Given the description of an element on the screen output the (x, y) to click on. 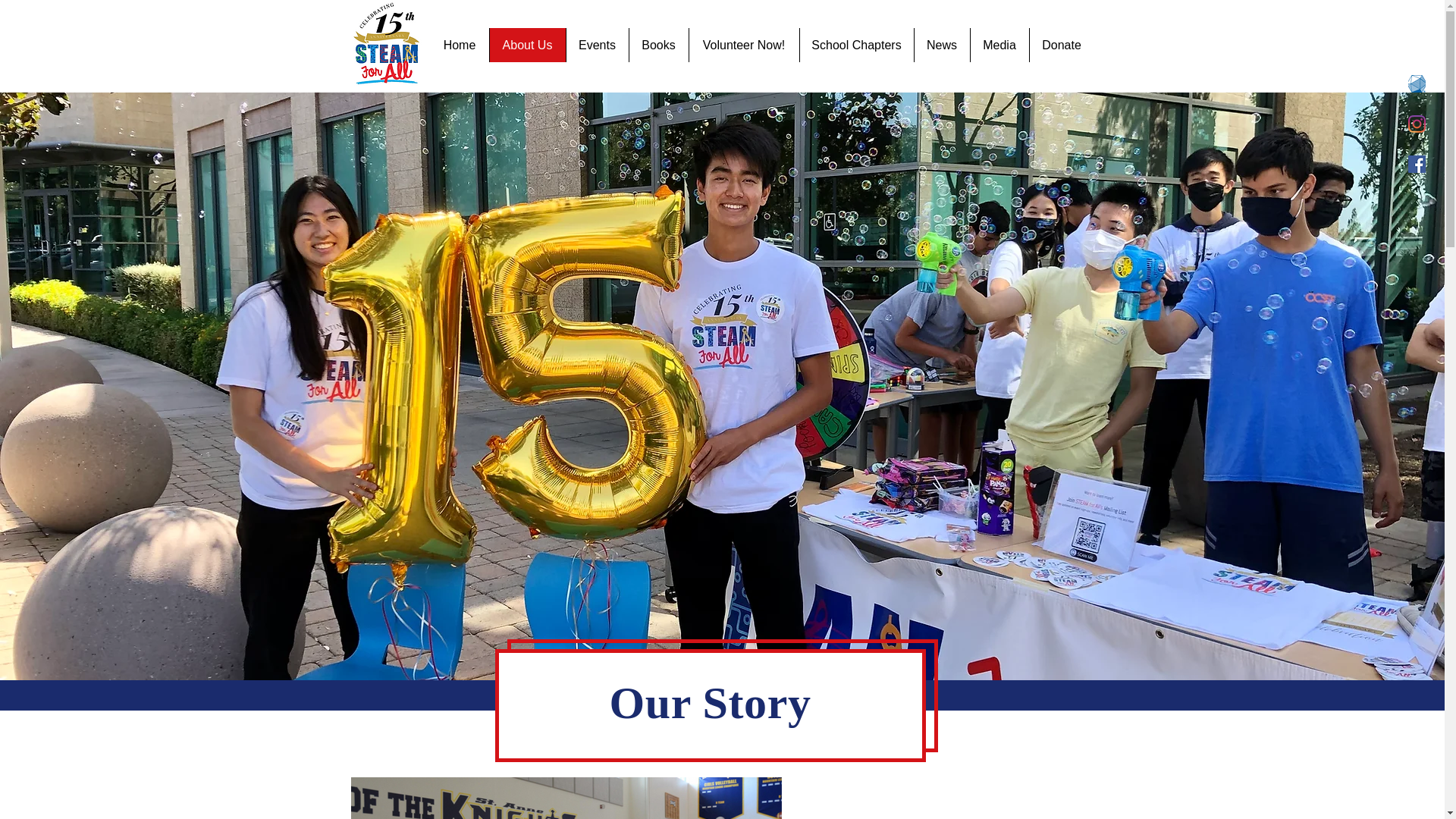
About Us (525, 44)
School Chapters (856, 44)
Donate (1060, 44)
News (940, 44)
Events (597, 44)
Books (657, 44)
Home (459, 44)
Volunteer Now! (743, 44)
Media (998, 44)
